Given the description of an element on the screen output the (x, y) to click on. 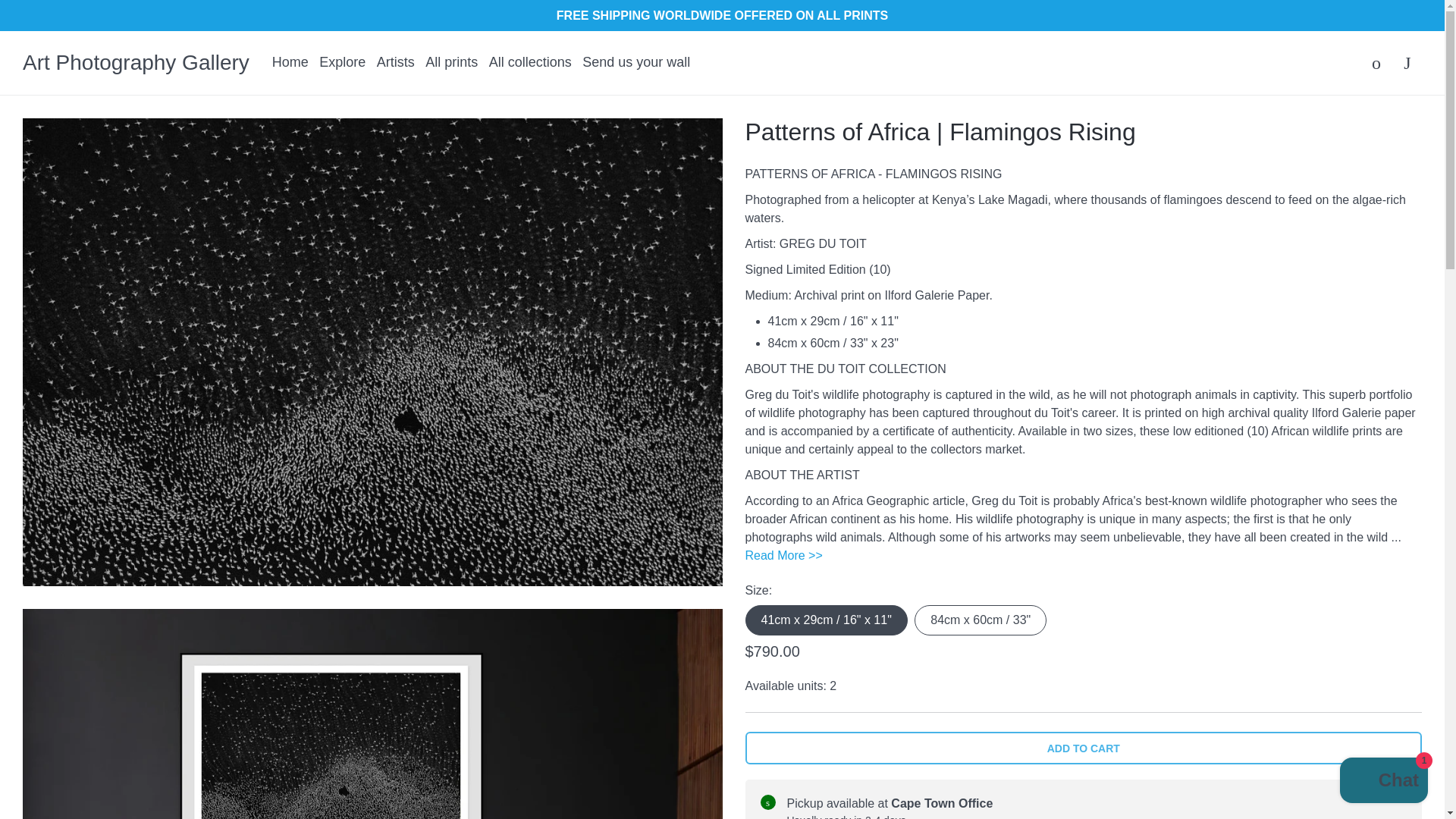
Find out more about Greg du Toit (783, 554)
All collections (530, 62)
Artists (395, 62)
Send us your wall (636, 62)
Art Photography Gallery (135, 62)
Explore (341, 62)
All prints (451, 62)
Shopify online store chat (1383, 781)
Add to Cart (1083, 748)
Home (290, 62)
